Given the description of an element on the screen output the (x, y) to click on. 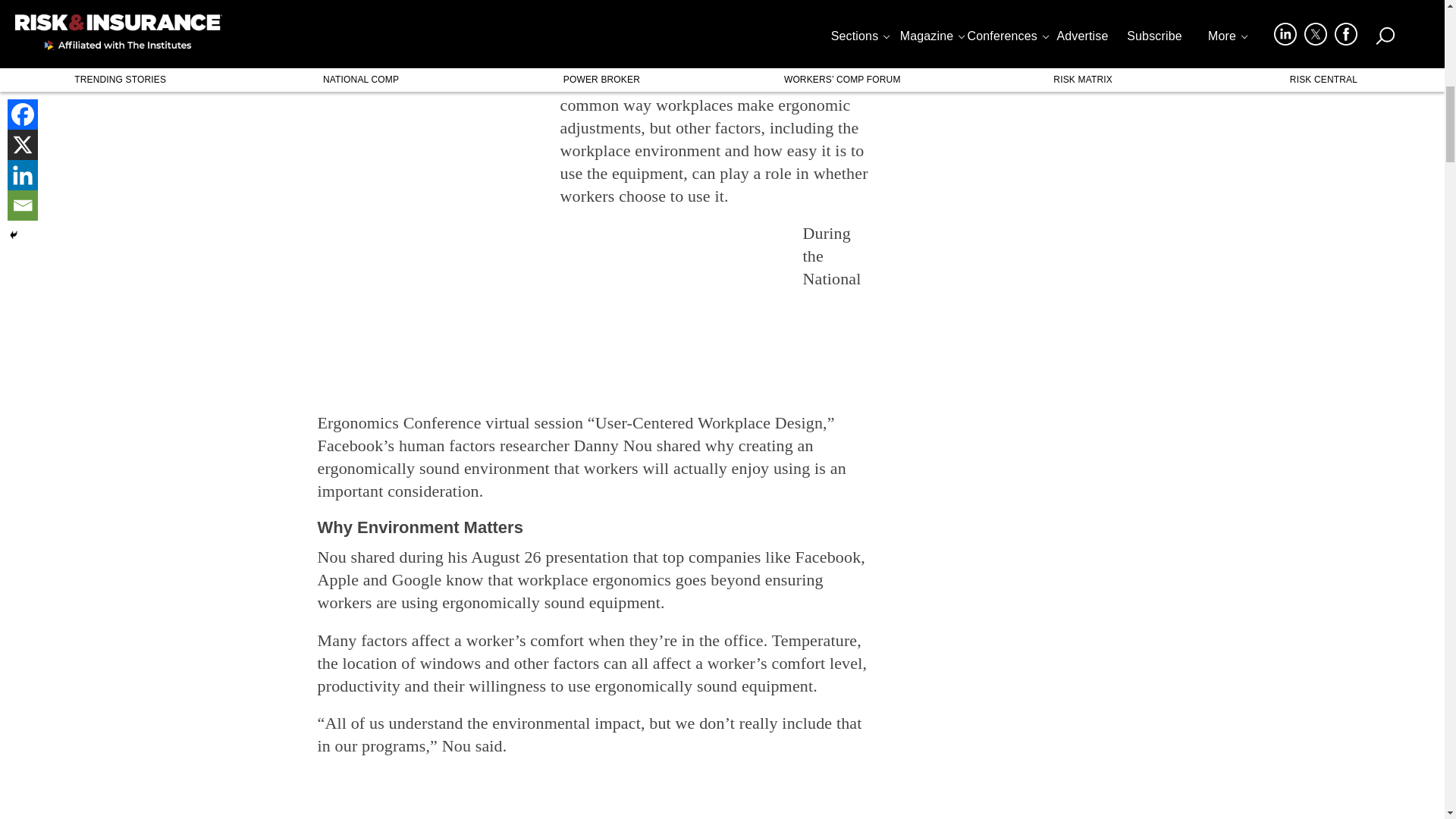
3rd party ad content (673, 316)
3rd party ad content (592, 795)
